Given the description of an element on the screen output the (x, y) to click on. 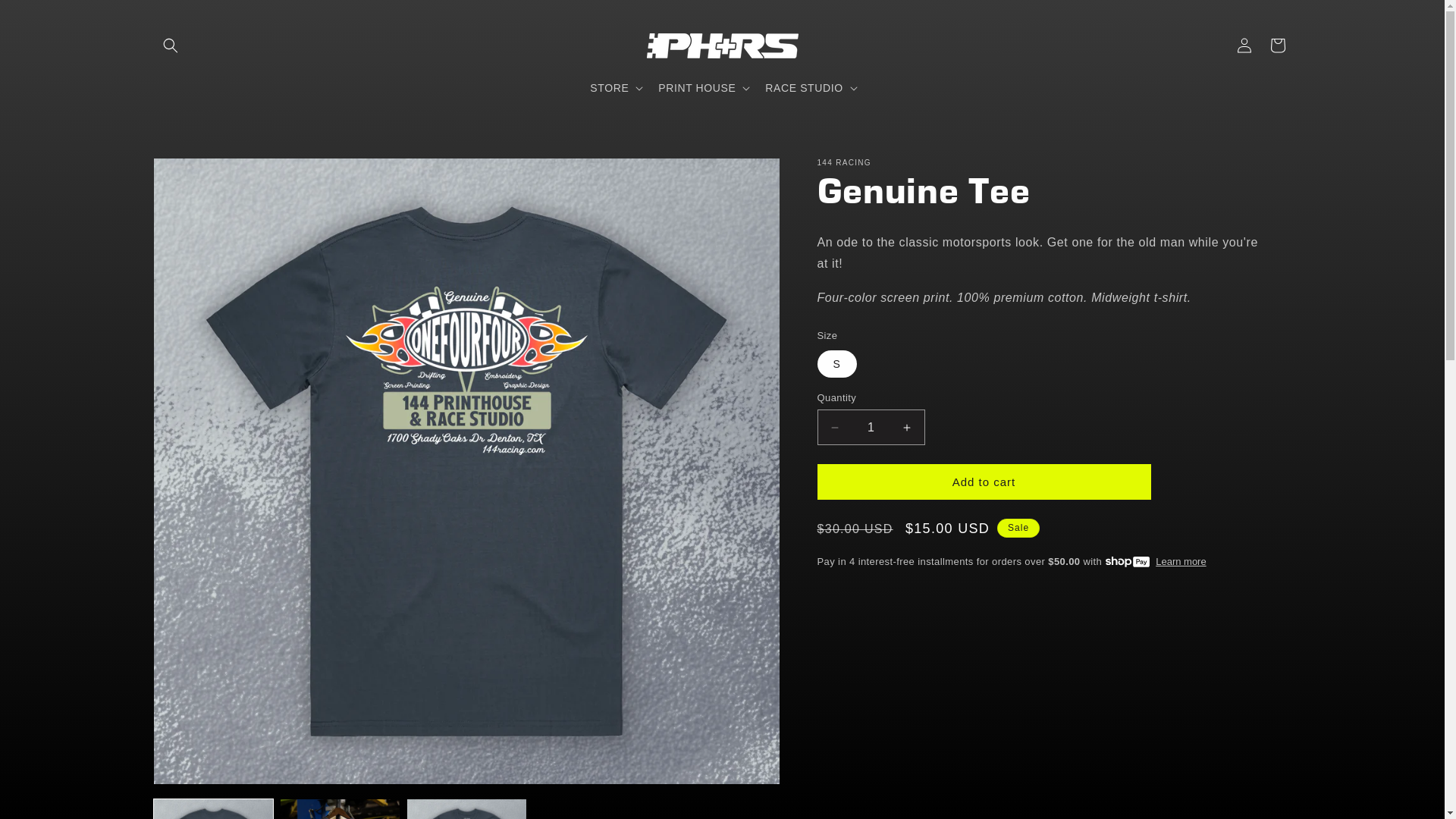
Log in Element type: text (1243, 45)
Add to cart Element type: text (984, 481)
Increase quantity for Genuine Tee Element type: text (907, 427)
Skip to product information Element type: text (199, 175)
Decrease quantity for Genuine Tee Element type: text (834, 427)
Cart Element type: text (1276, 45)
